Given the description of an element on the screen output the (x, y) to click on. 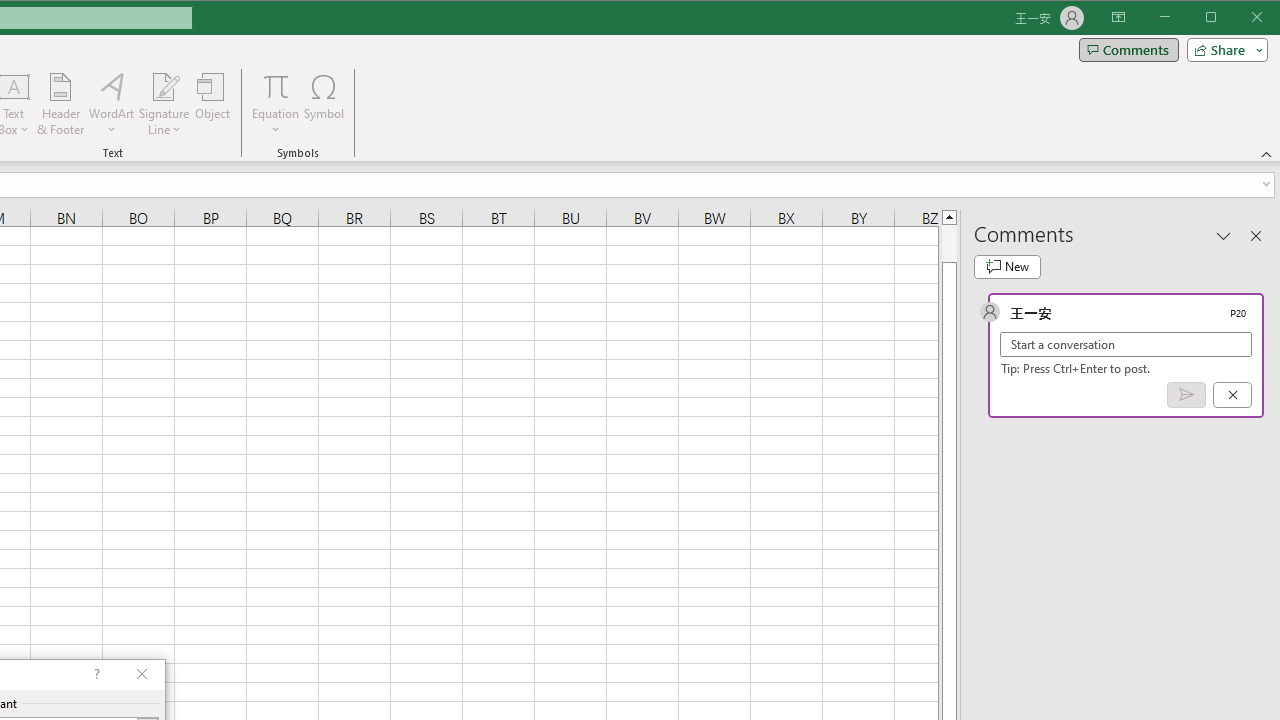
Signature Line (164, 104)
Equation (275, 104)
Equation (275, 86)
Header & Footer... (60, 104)
Maximize (1239, 18)
